Given the description of an element on the screen output the (x, y) to click on. 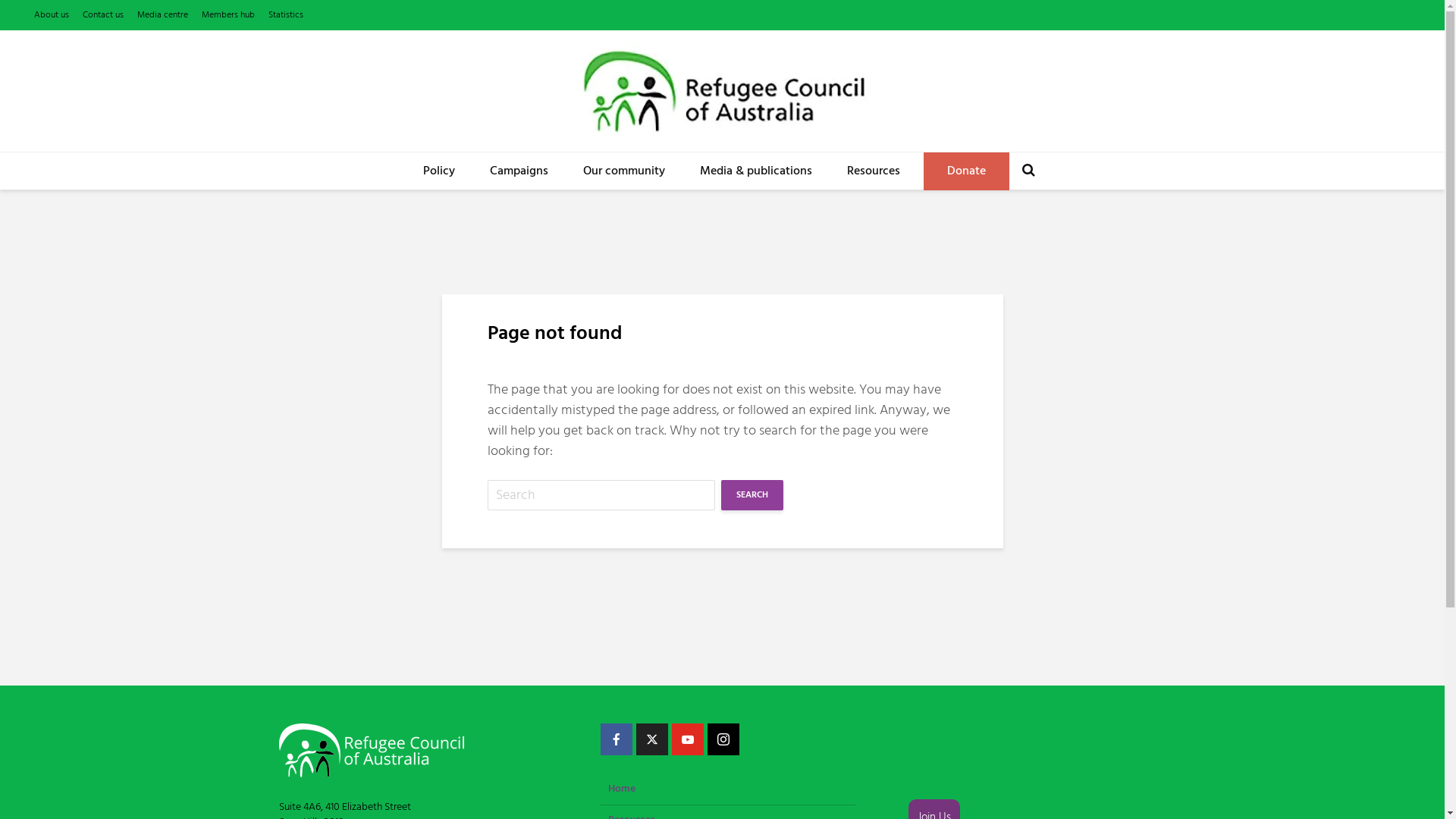
Media centre Element type: text (162, 14)
Policy Element type: text (438, 171)
Members hub Element type: text (227, 14)
Donate Element type: text (966, 171)
Resources Element type: text (873, 171)
facebook Element type: text (616, 739)
instagram Element type: text (722, 739)
Contact us Element type: text (102, 14)
About us Element type: text (51, 14)
Our community Element type: text (623, 171)
twitter Element type: text (651, 739)
Statistics Element type: text (285, 14)
Campaigns Element type: text (518, 171)
youtube Element type: text (687, 739)
Media & publications Element type: text (755, 171)
Home Element type: text (727, 793)
SEARCH Element type: text (751, 495)
